Given the description of an element on the screen output the (x, y) to click on. 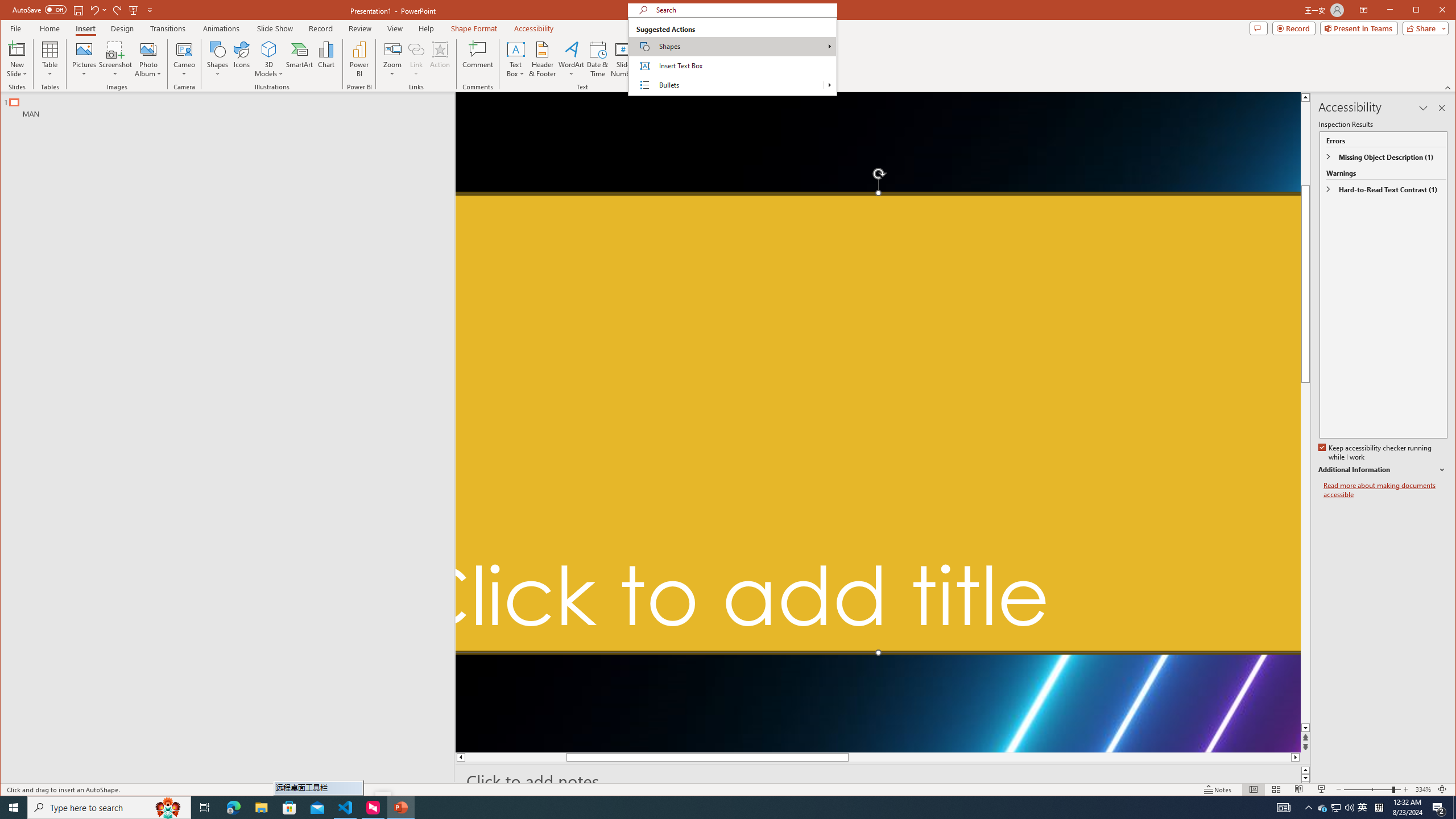
Chart... (325, 59)
Link (416, 48)
3D Models (269, 59)
Screenshot (115, 59)
SmartArt... (299, 59)
